Given the description of an element on the screen output the (x, y) to click on. 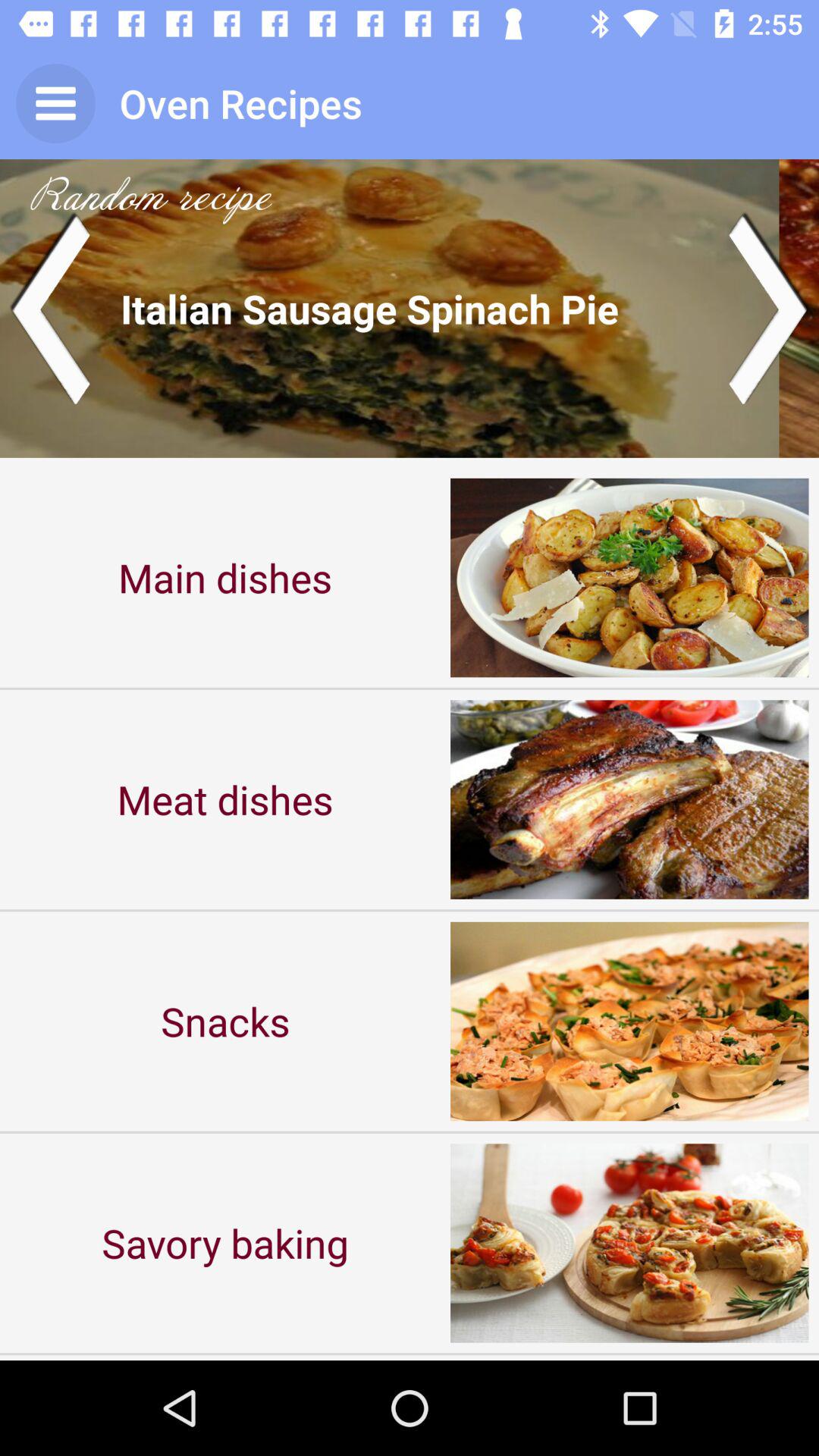
flip to the snacks item (225, 1020)
